Given the description of an element on the screen output the (x, y) to click on. 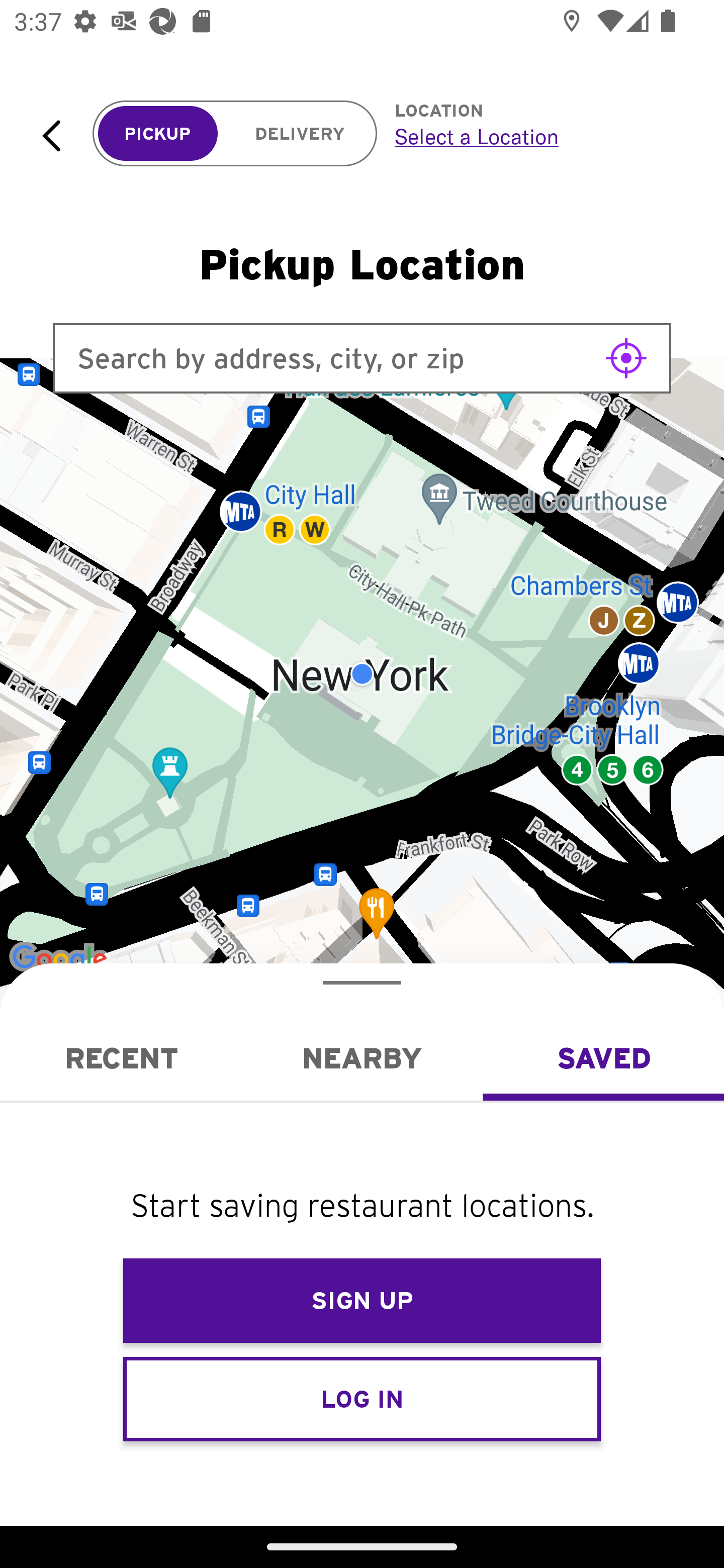
PICKUP (157, 133)
DELIVERY (299, 133)
Select a Location (536, 136)
Search by address, city, or zip (361, 358)
Google Map (362, 674)
Recent RECENT (120, 1058)
Nearby NEARBY (361, 1058)
SIGN UP (361, 1300)
LOG IN (361, 1398)
